Given the description of an element on the screen output the (x, y) to click on. 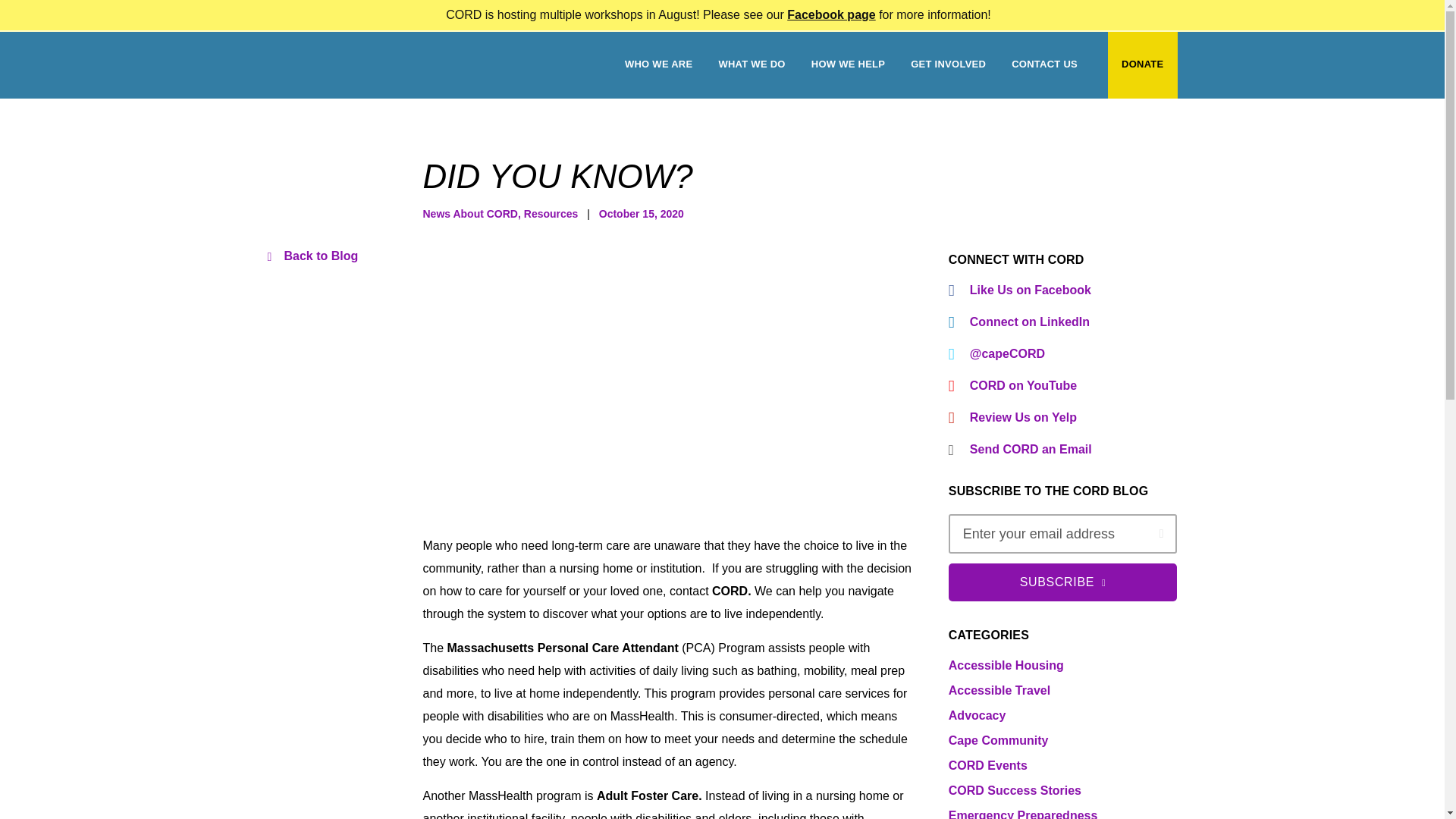
Back to Blog (312, 255)
GET INVOLVED (948, 64)
508-775-8300 (392, 14)
DONATE (1142, 64)
WHAT WE DO (751, 64)
Review Us on Yelp (1063, 417)
CONTACT US (1044, 64)
Resources (551, 214)
Like Us on Facebook (1063, 290)
WHO WE ARE (658, 64)
